Given the description of an element on the screen output the (x, y) to click on. 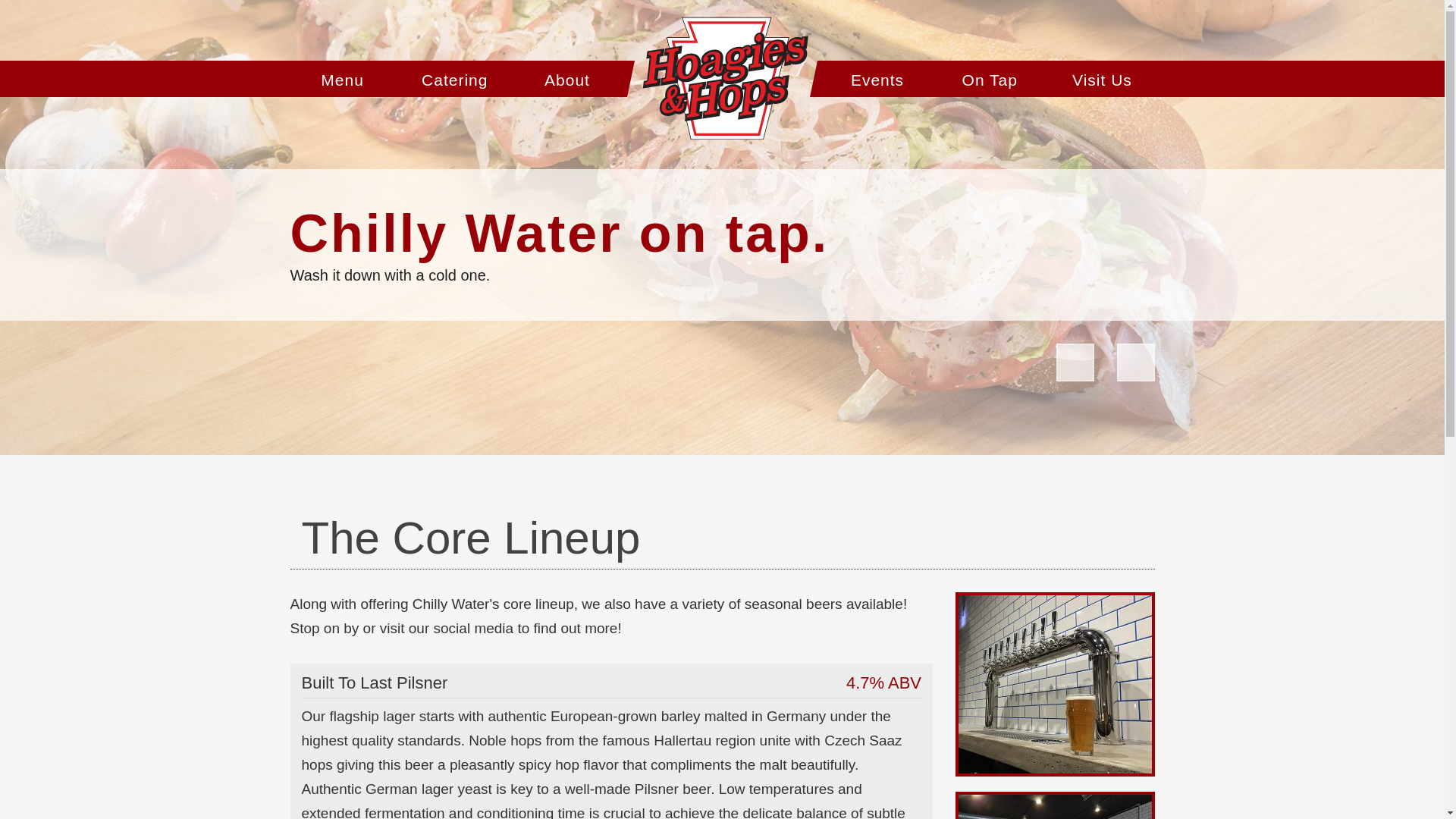
Visit Us (1098, 78)
Catering (459, 78)
On Tap (986, 78)
About (571, 78)
Events (873, 78)
Menu (345, 78)
